Given the description of an element on the screen output the (x, y) to click on. 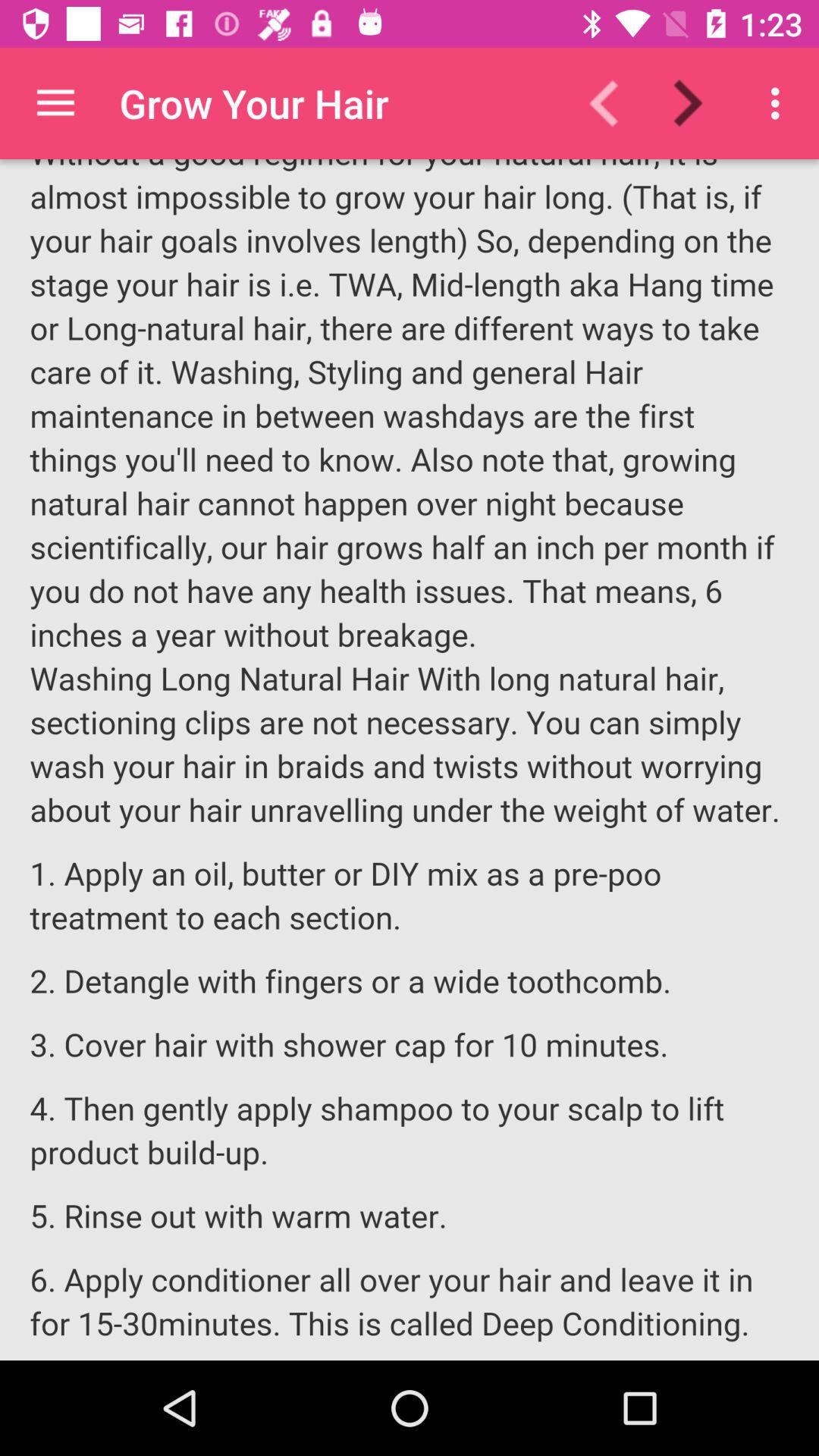
go to the next article (697, 103)
